Given the description of an element on the screen output the (x, y) to click on. 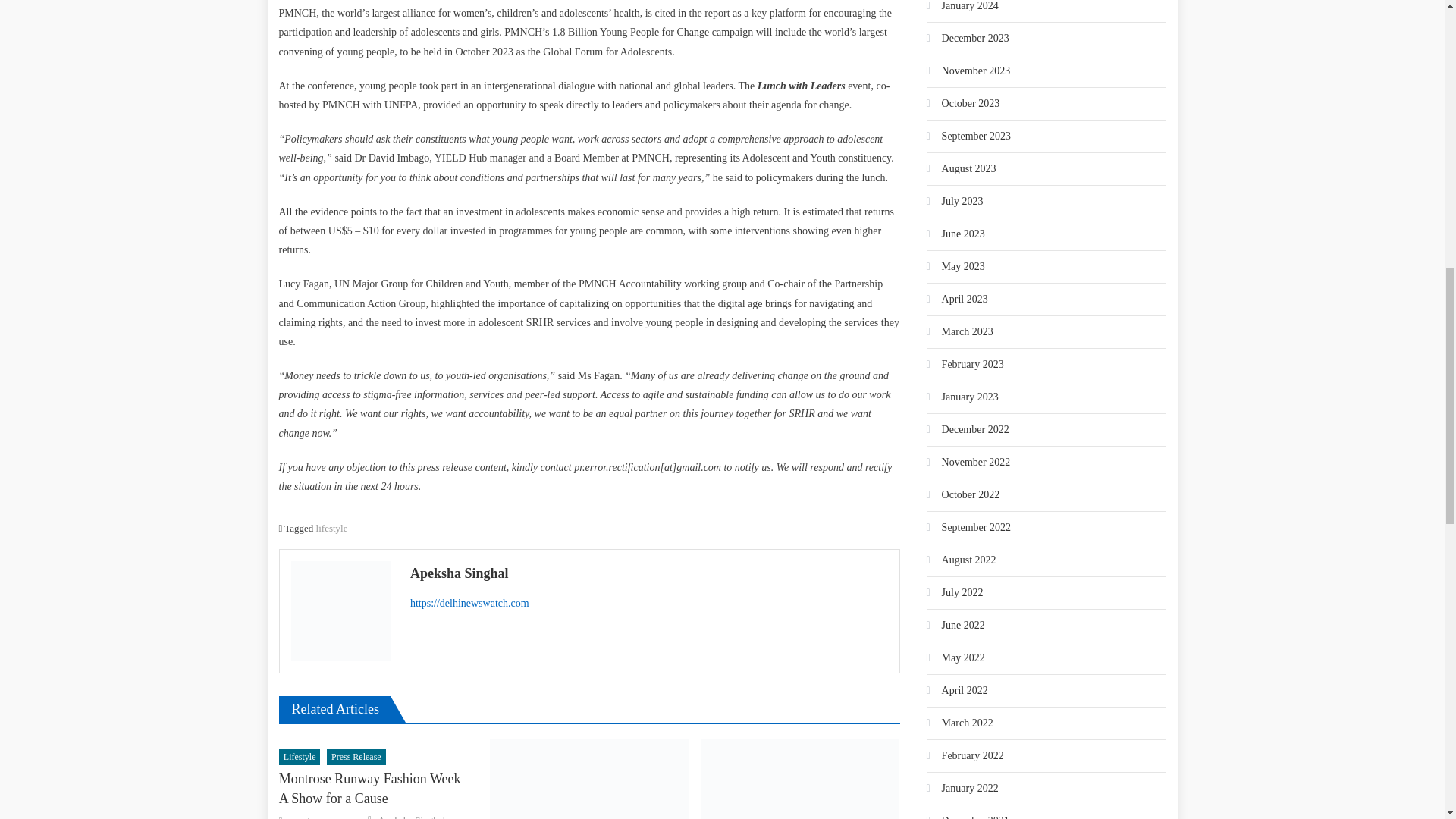
Press Release (355, 757)
October 7, 2021 (320, 816)
lifestyle (331, 527)
Apeksha Singhal (411, 816)
Apeksha Singhal (649, 573)
Lifestyle (299, 757)
